Given the description of an element on the screen output the (x, y) to click on. 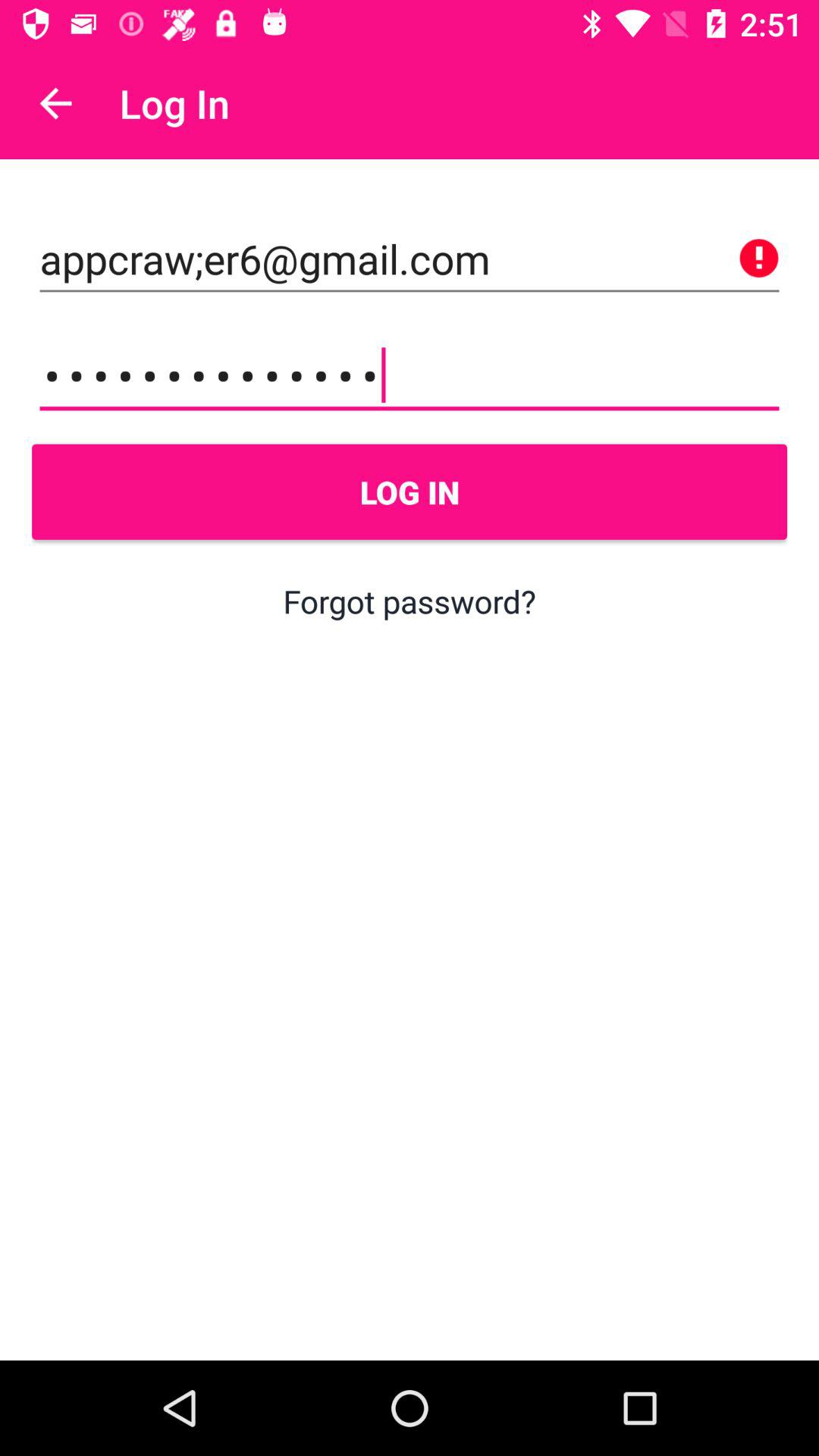
scroll until appcraw er6 gmail item (409, 259)
